Given the description of an element on the screen output the (x, y) to click on. 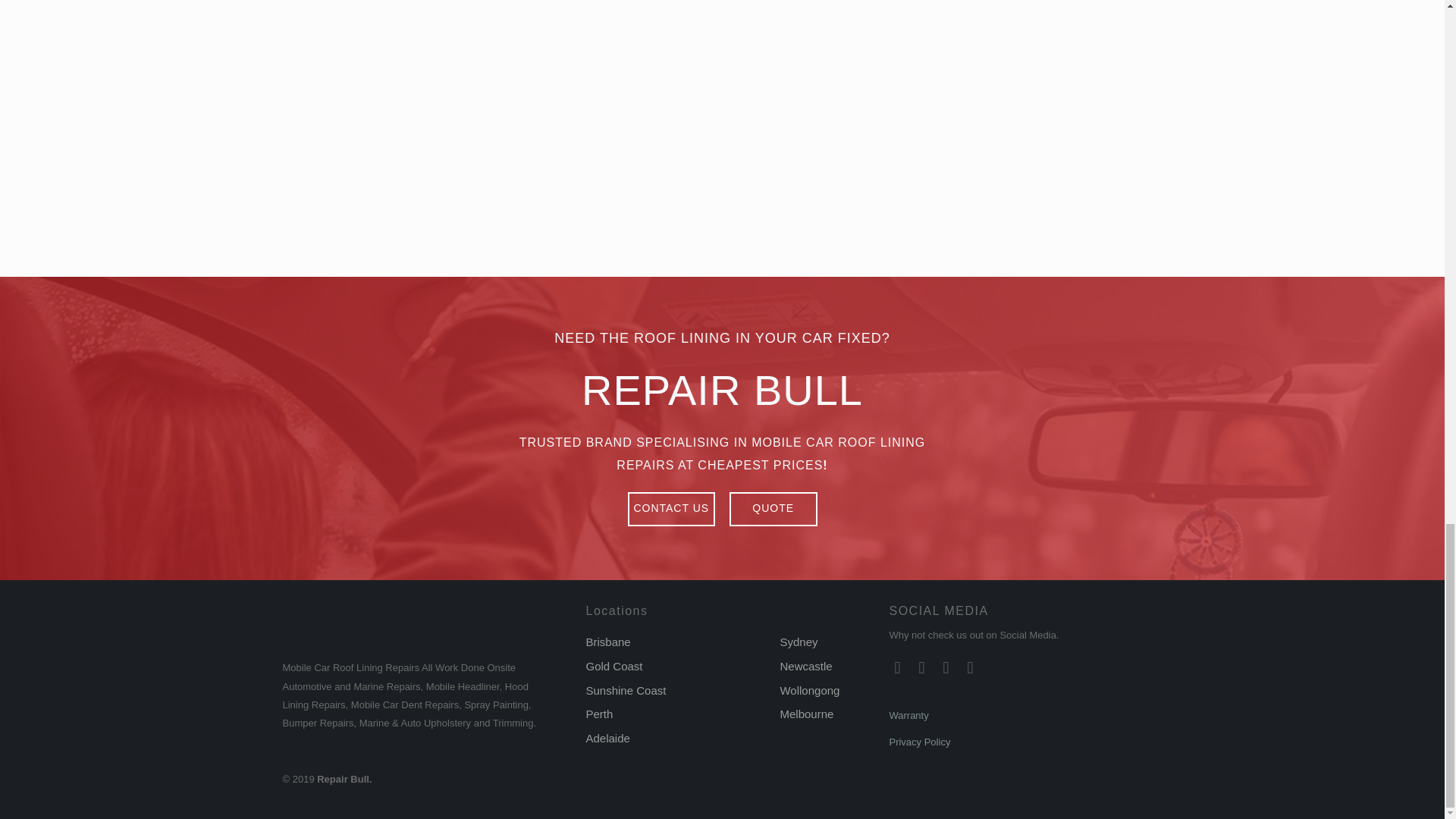
img-3 (367, 84)
img-1 (1076, 84)
img-2 (721, 84)
Locations (616, 610)
Logo (384, 622)
